Given the description of an element on the screen output the (x, y) to click on. 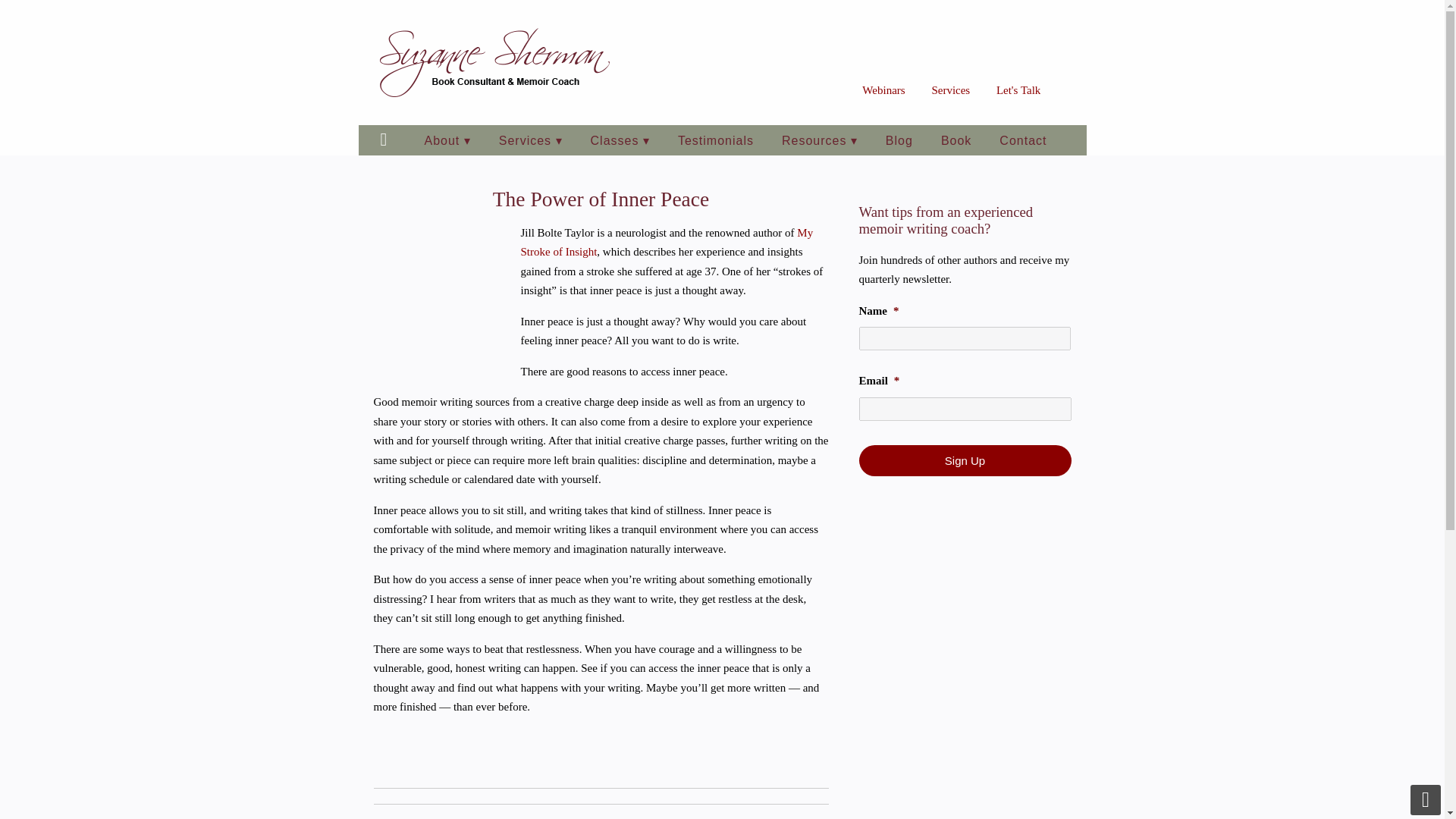
Let's Talk (1018, 90)
Webinars (882, 90)
Suzanne Sherman (493, 62)
Sign Up (964, 459)
JILL BOLTE TAYLOR (440, 294)
Services (950, 90)
Testimonials (715, 140)
Suzanne Sherman (493, 62)
My Stroke of Insight (665, 241)
Contact (1022, 140)
